Given the description of an element on the screen output the (x, y) to click on. 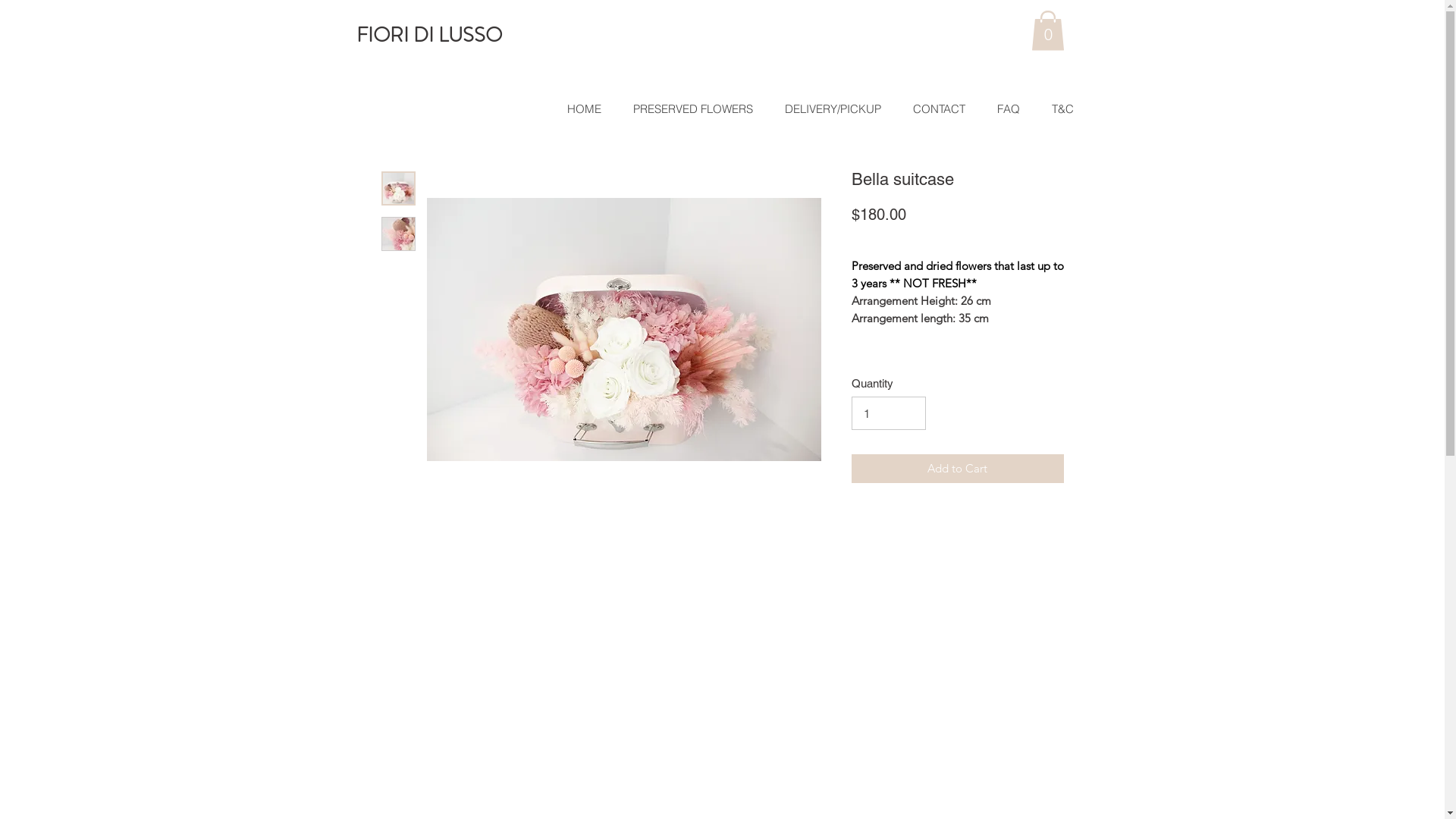
FAQ Element type: text (1008, 109)
PRESERVED FLOWERS Element type: text (692, 109)
FAQ Element type: text (898, 96)
T&C Element type: text (943, 96)
T&C Element type: text (1061, 109)
CONTACT Element type: text (837, 96)
0 Element type: text (1047, 30)
PRESERVED FLOWERS Element type: text (606, 96)
DELIVERY/PICKUP Element type: text (739, 96)
HOME Element type: text (584, 109)
FIORI DI LUSSO Element type: text (429, 34)
CONTACT Element type: text (938, 109)
HOME Element type: text (506, 96)
Add to Cart Element type: text (956, 468)
DELIVERY/PICKUP Element type: text (832, 109)
